Given the description of an element on the screen output the (x, y) to click on. 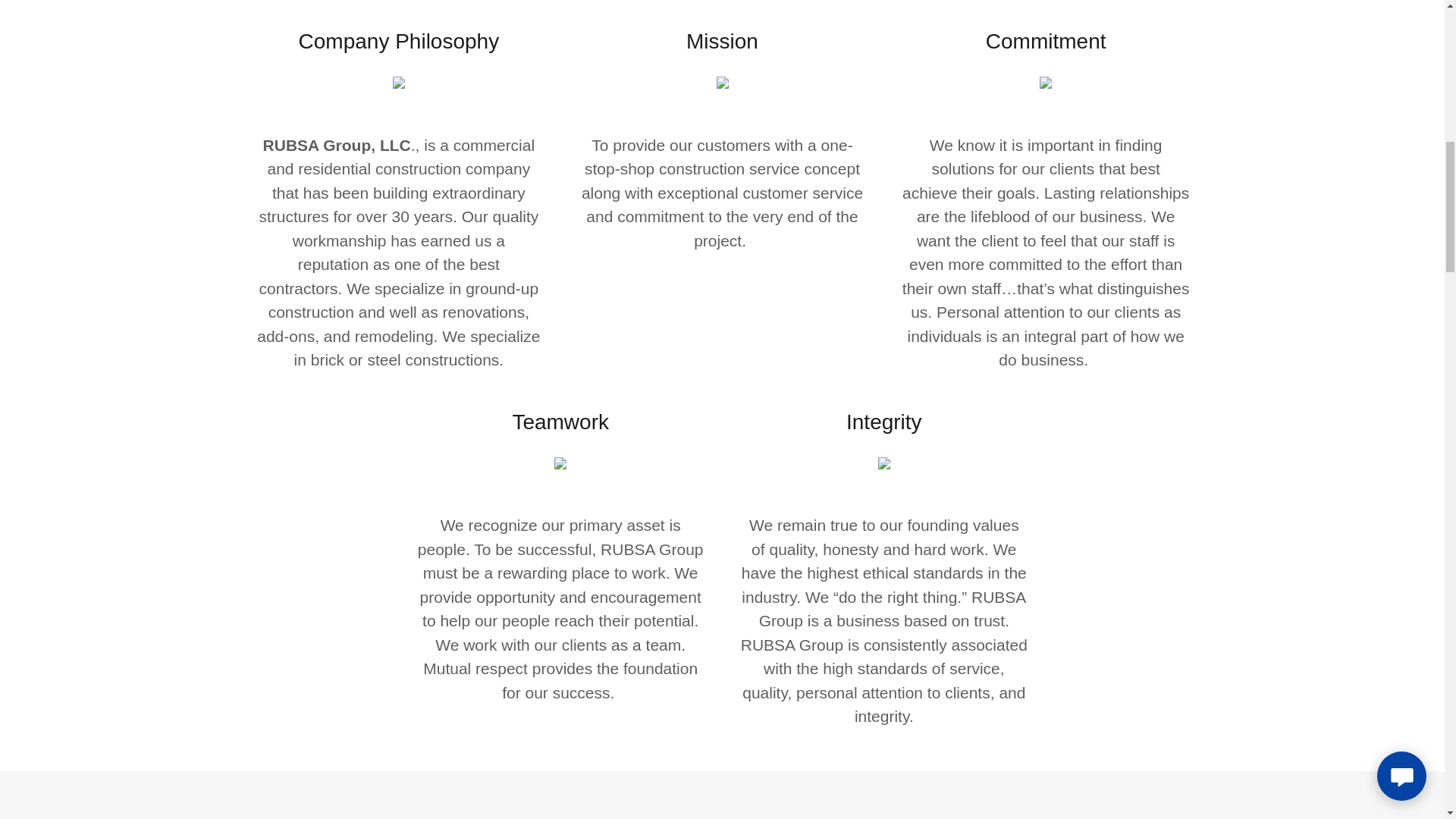
ACCEPT (1274, 324)
